Given the description of an element on the screen output the (x, y) to click on. 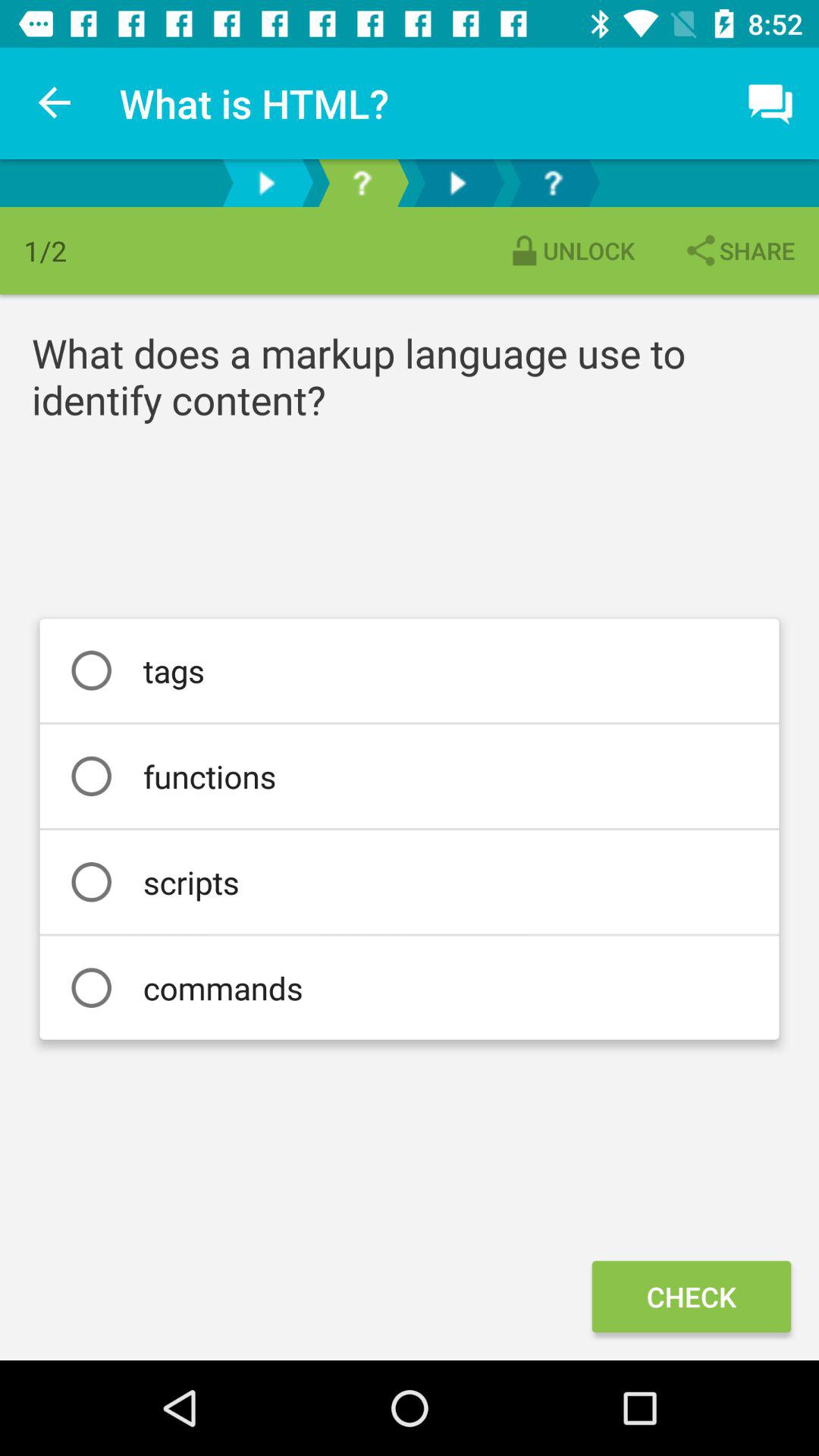
flip to share item (738, 250)
